Given the description of an element on the screen output the (x, y) to click on. 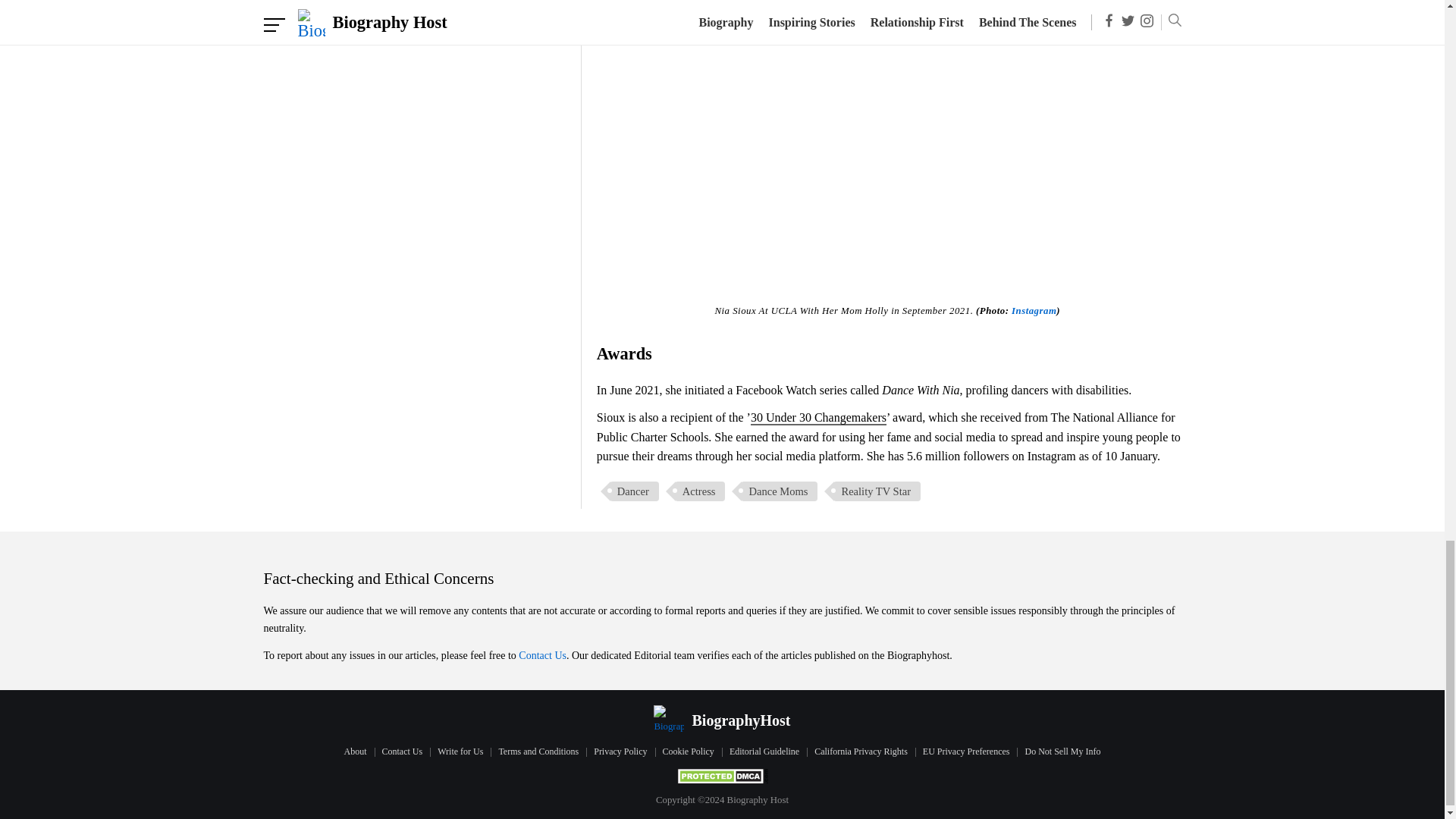
30 Under 30 Changemakers (818, 418)
Instagram (1034, 310)
